Given the description of an element on the screen output the (x, y) to click on. 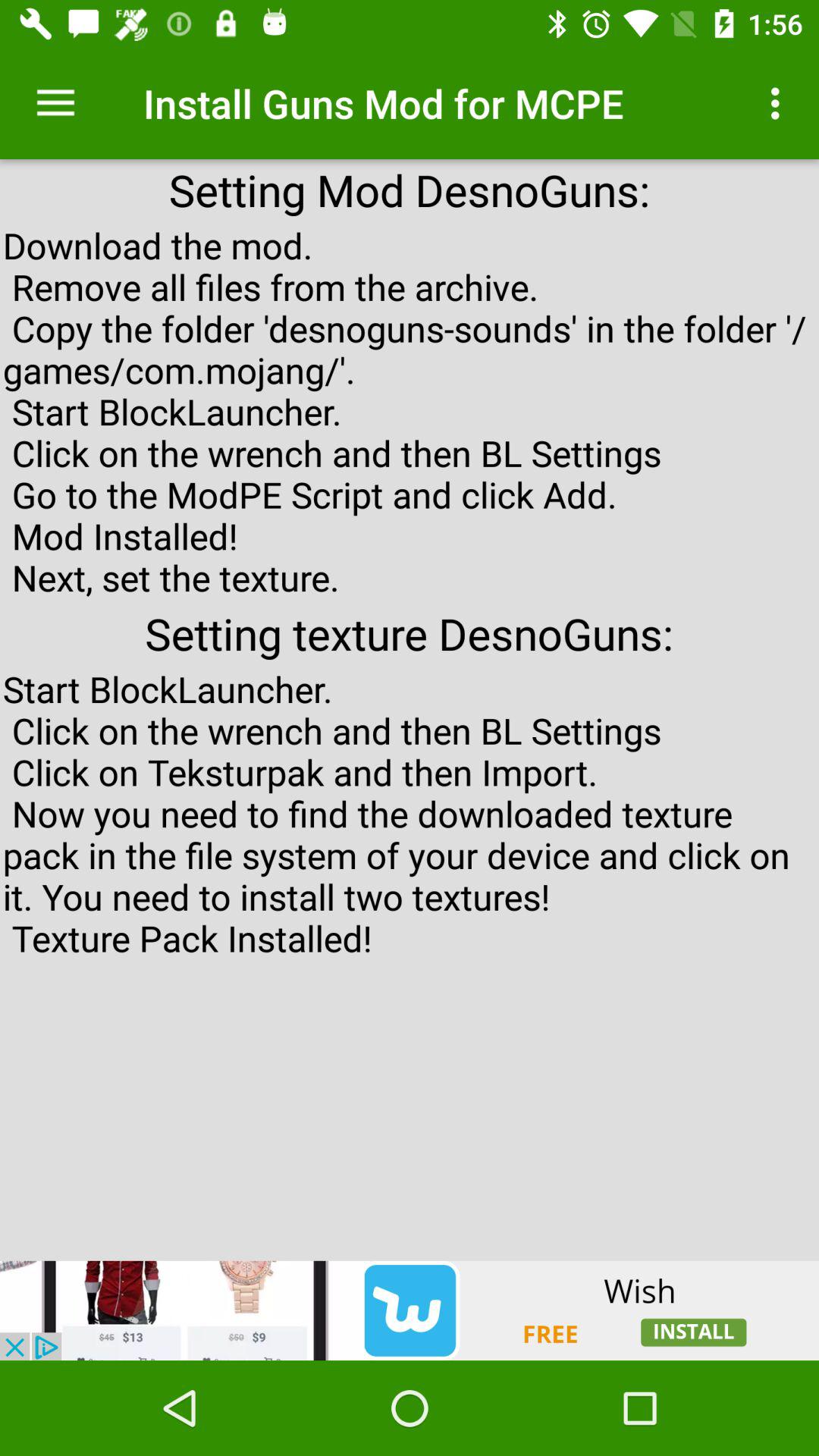
open wish advertisement (409, 1310)
